Given the description of an element on the screen output the (x, y) to click on. 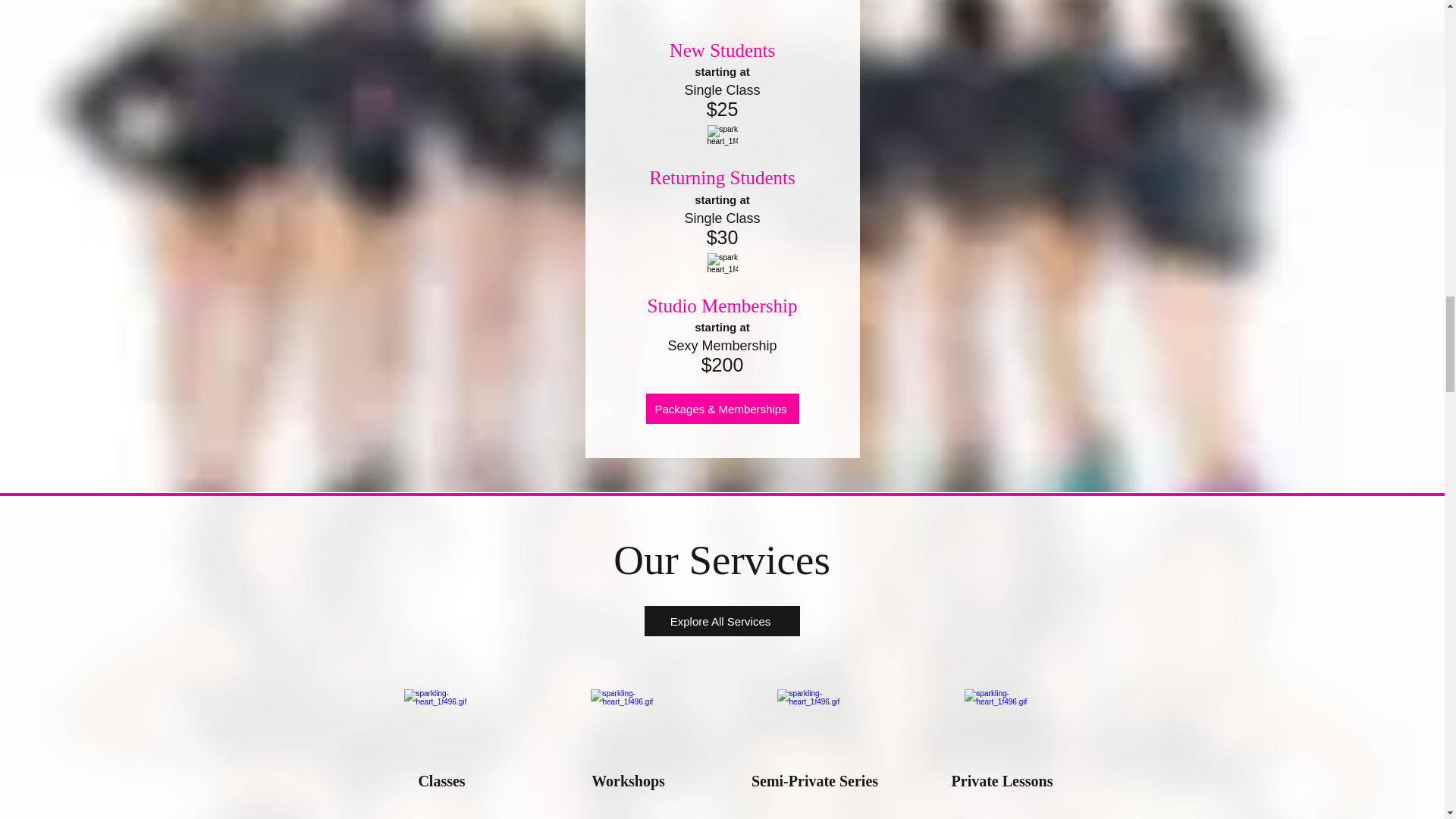
Classes (440, 781)
Workshops (628, 781)
Explore All Services (722, 621)
Private Lessons (1002, 781)
Semi-Private Series (814, 781)
